Given the description of an element on the screen output the (x, y) to click on. 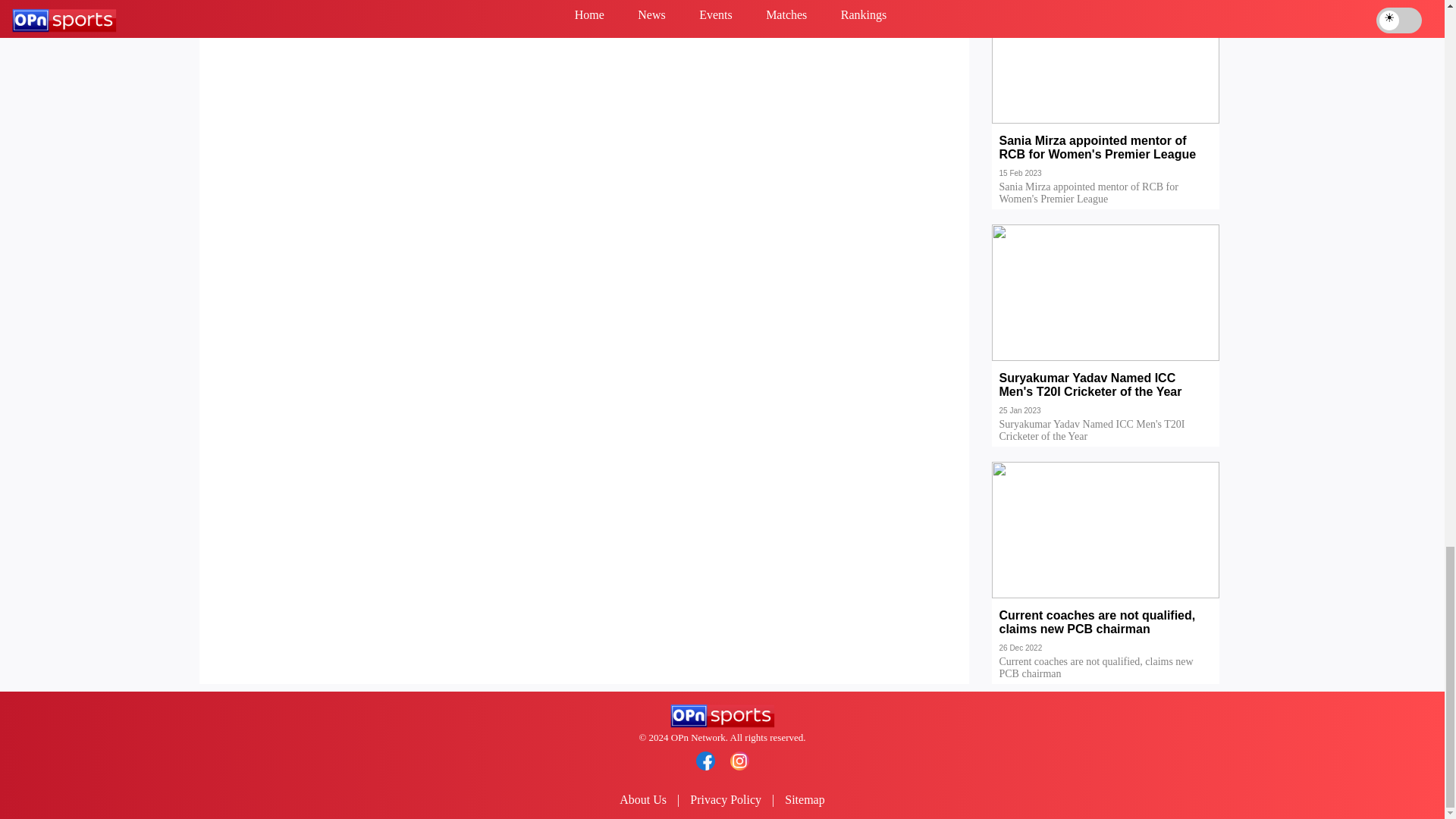
Current coaches are not qualified, claims new PCB chairman (1105, 633)
Suryakumar Yadav Named ICC Men's T20I Cricketer of the Year (1105, 395)
Sitemap (804, 799)
Privacy Policy (725, 799)
About Us (643, 799)
